Given the description of an element on the screen output the (x, y) to click on. 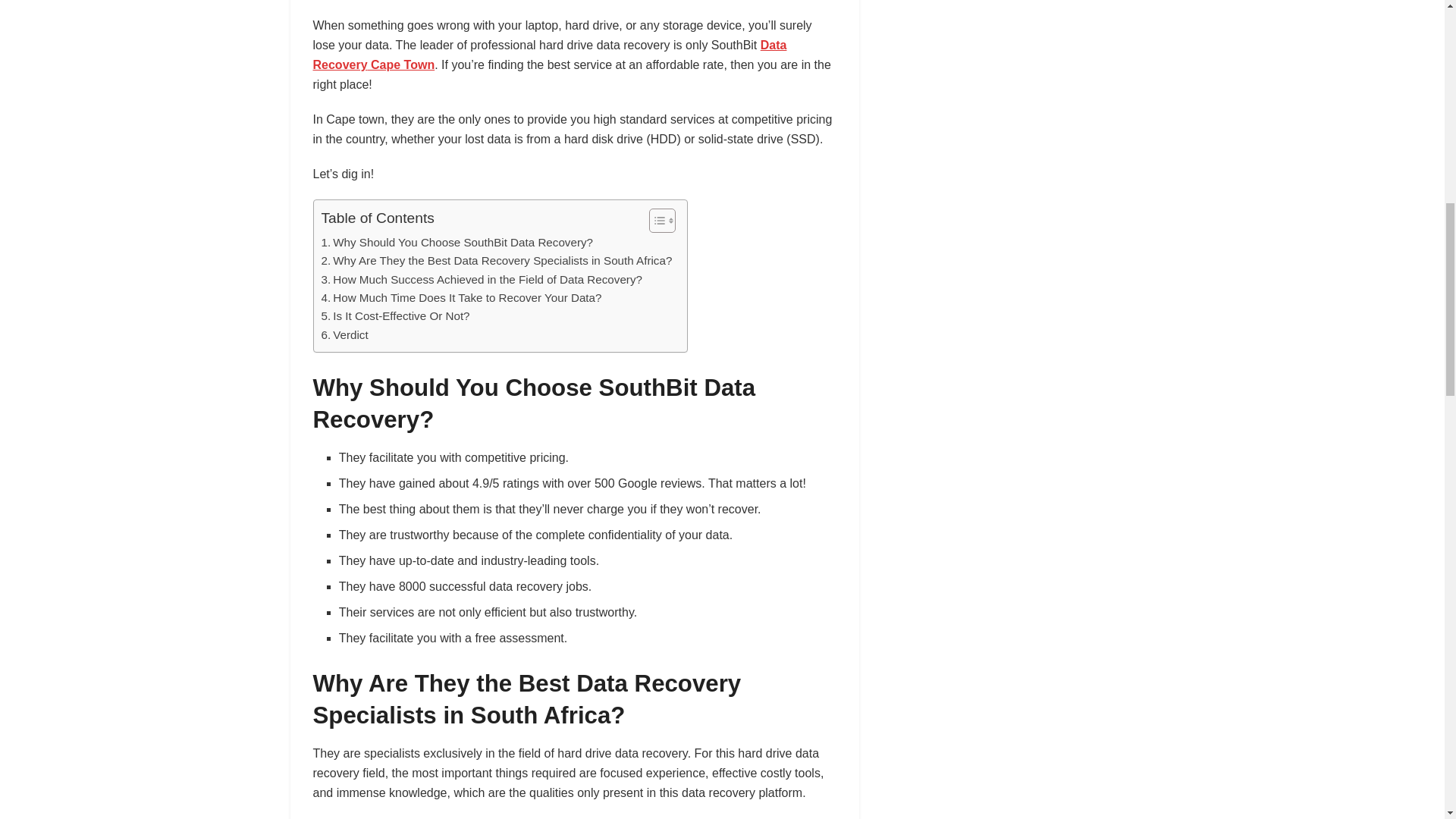
Is It Cost-Effective Or Not? (395, 316)
How Much Time Does It Take to Recover Your Data? (461, 298)
Verdict (344, 334)
How Much Success Achieved in the Field of Data Recovery? (481, 280)
Why Should You Choose SouthBit Data Recovery? (457, 242)
